Given the description of an element on the screen output the (x, y) to click on. 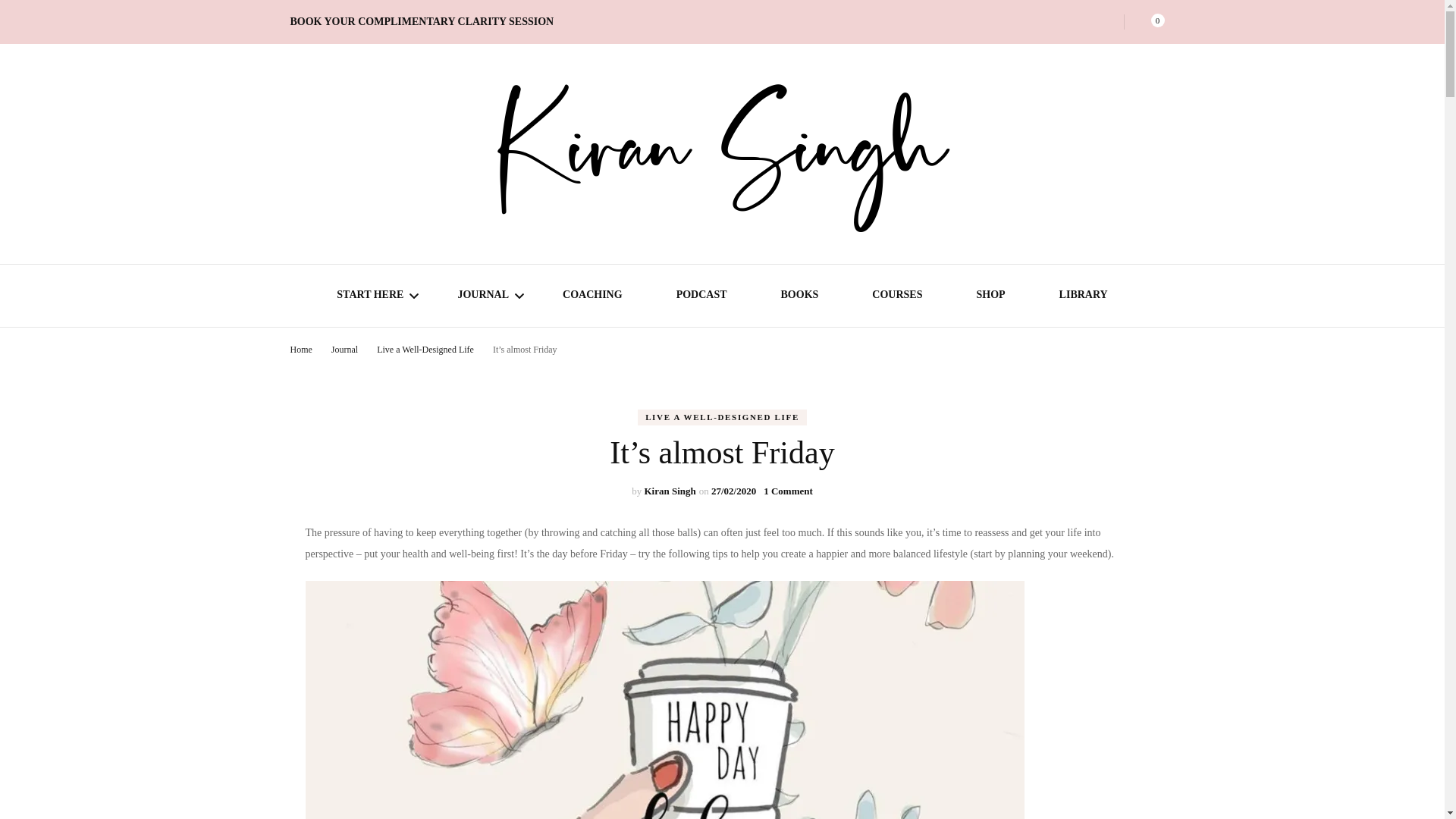
Live a Well-Designed Life (426, 348)
Kiran Singh (669, 490)
COURSES (896, 296)
BOOKS (799, 296)
PODCAST (701, 296)
SHOP (989, 296)
Home (300, 348)
LIVE A WELL-DESIGNED LIFE (721, 417)
START HERE (369, 296)
Journal (345, 348)
